Given the description of an element on the screen output the (x, y) to click on. 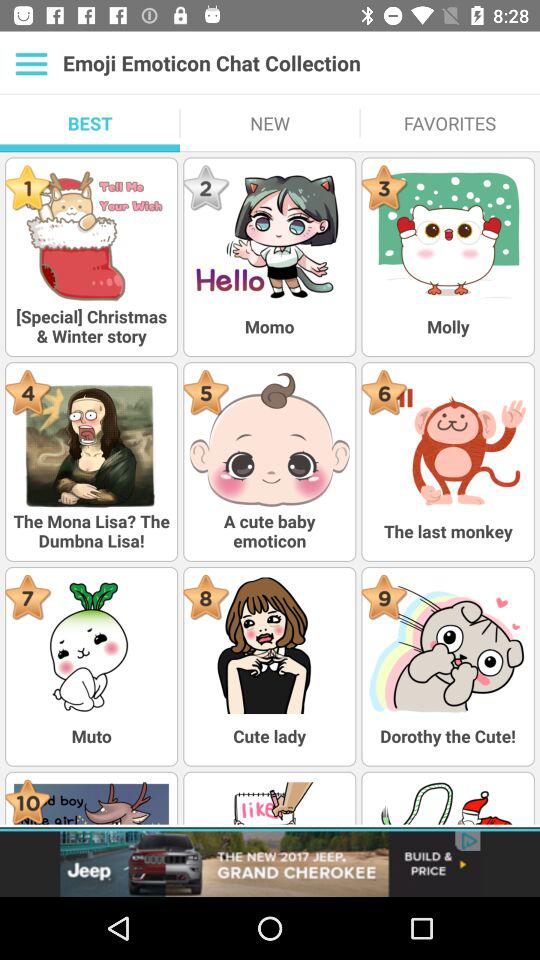
menu (31, 63)
